Given the description of an element on the screen output the (x, y) to click on. 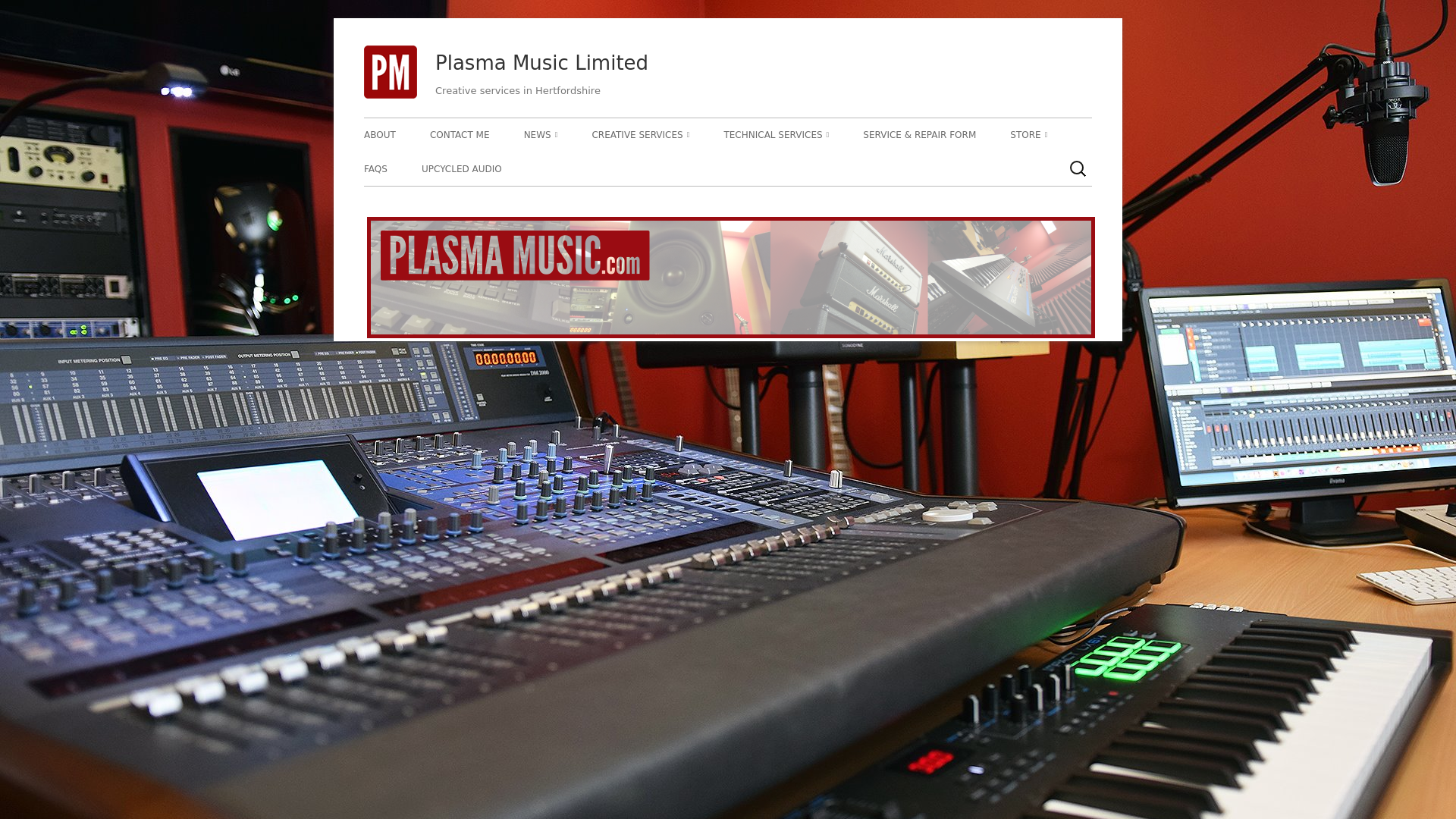
CREATIVE SERVICES (639, 134)
Search (28, 12)
CONTACT ME (459, 134)
NEWS (540, 134)
PRODUCTS (1096, 167)
GUITAR AMP REPAIRS (809, 167)
UPCYCLED AUDIO (462, 168)
STORE (1028, 134)
ABOUT (380, 134)
Plasma Music Limited (541, 63)
